Given the description of an element on the screen output the (x, y) to click on. 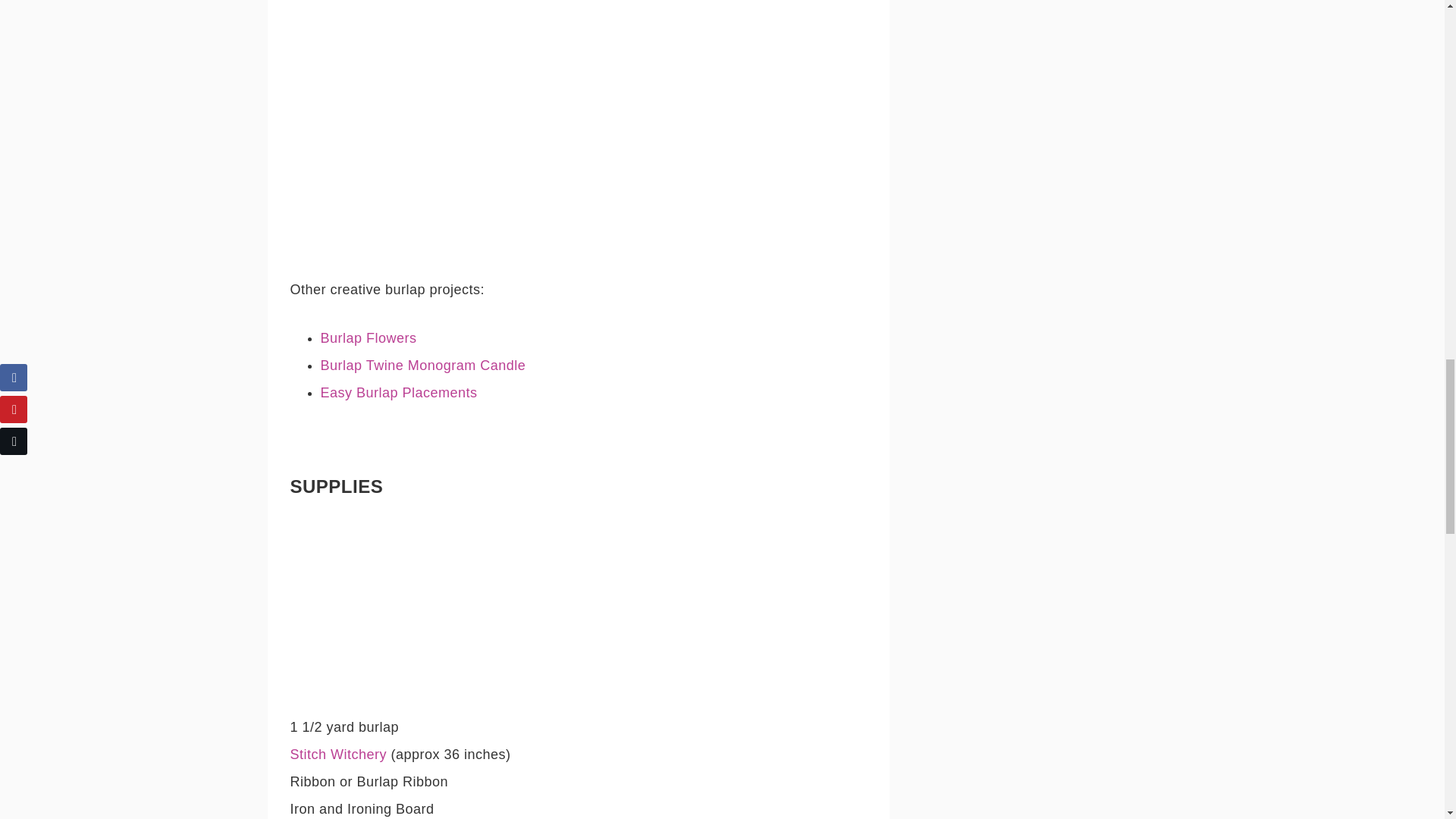
Burlap Flowers (368, 337)
Burlap Twine Monogram Candle (422, 365)
Stitch Witchery (338, 754)
Easy Burlap Placements (398, 392)
